Given the description of an element on the screen output the (x, y) to click on. 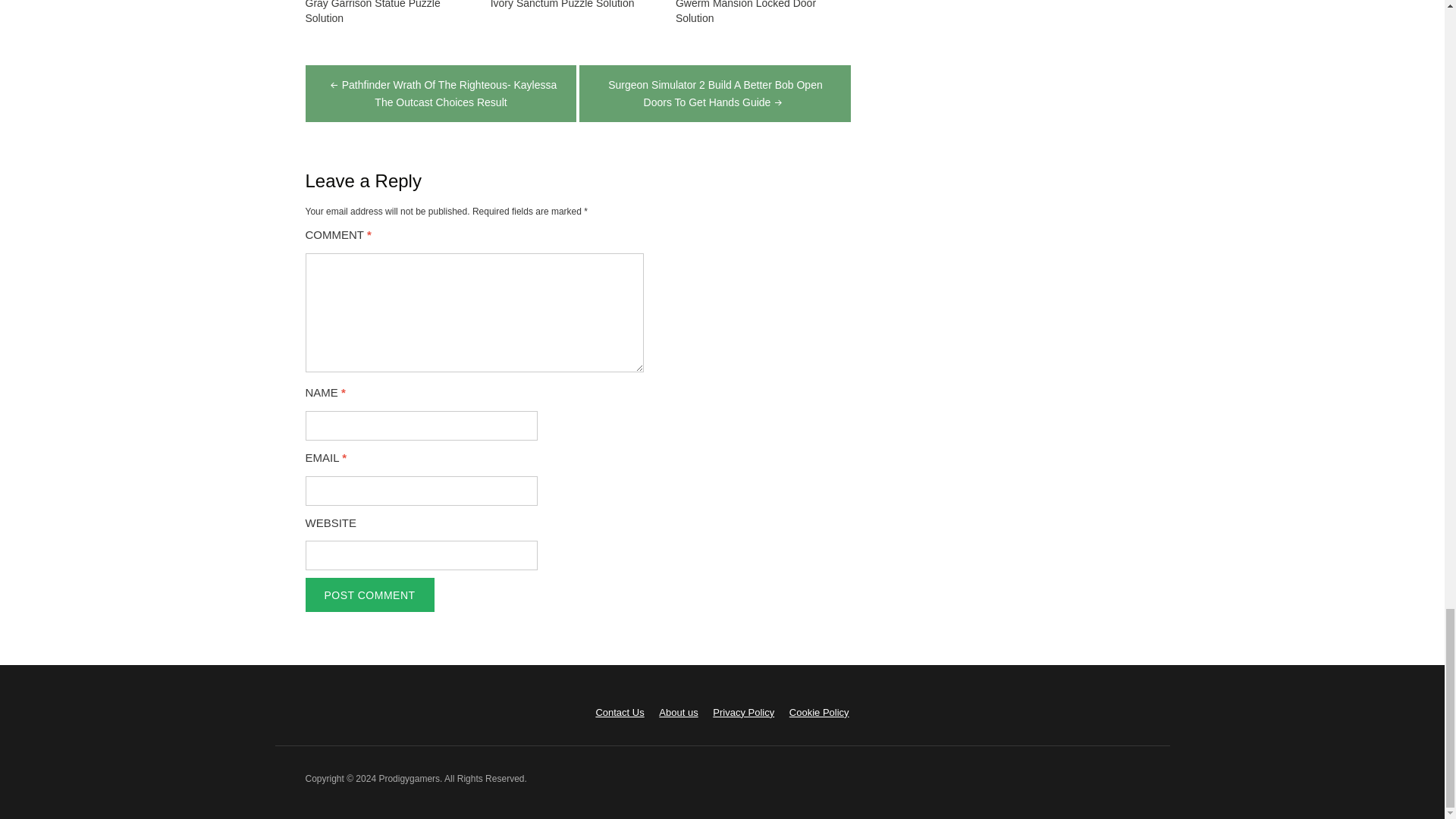
Post Comment (368, 594)
